Given the description of an element on the screen output the (x, y) to click on. 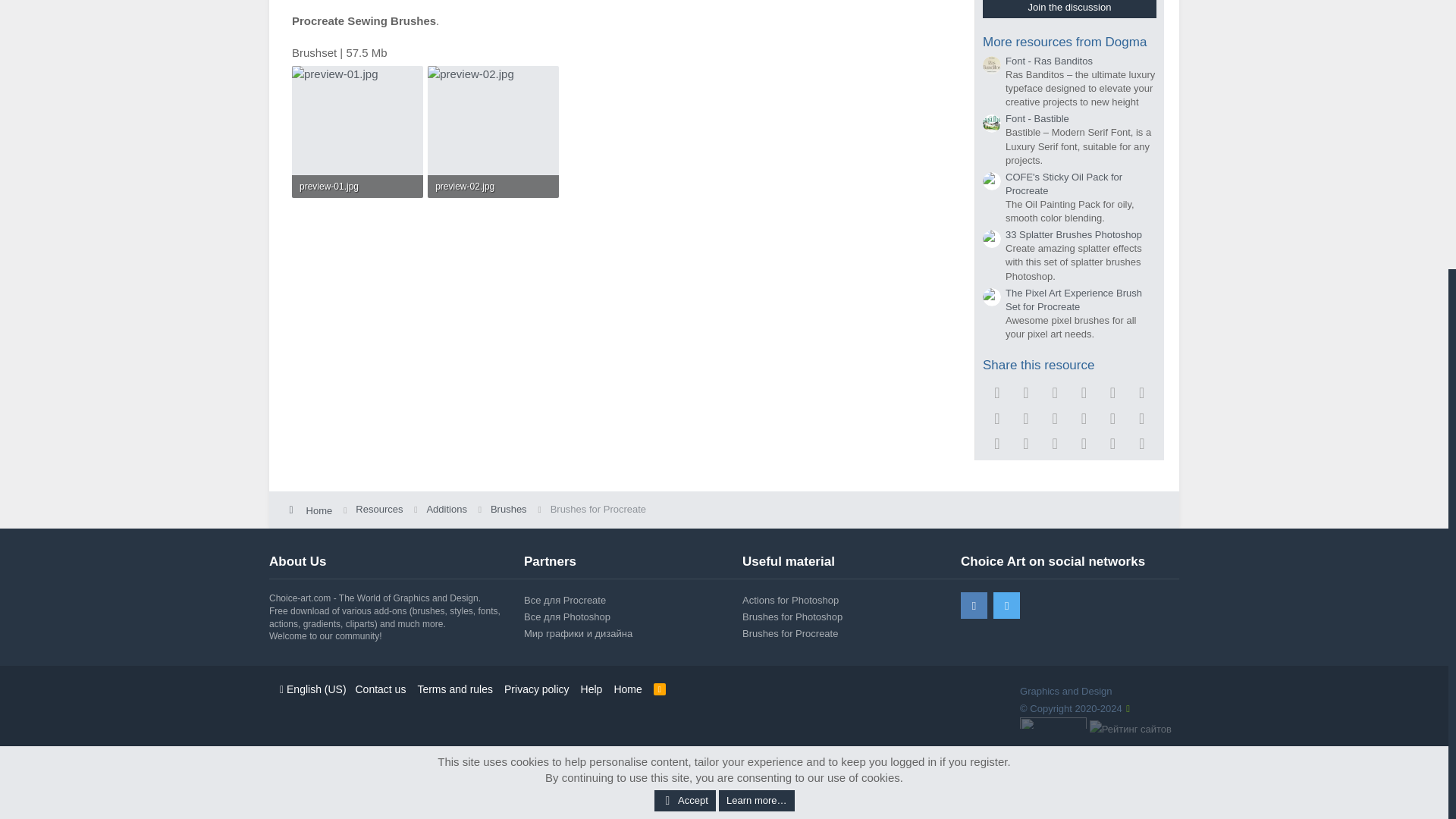
preview-01.jpg (356, 186)
RSS (659, 688)
preview-02.jpg (493, 186)
